Given the description of an element on the screen output the (x, y) to click on. 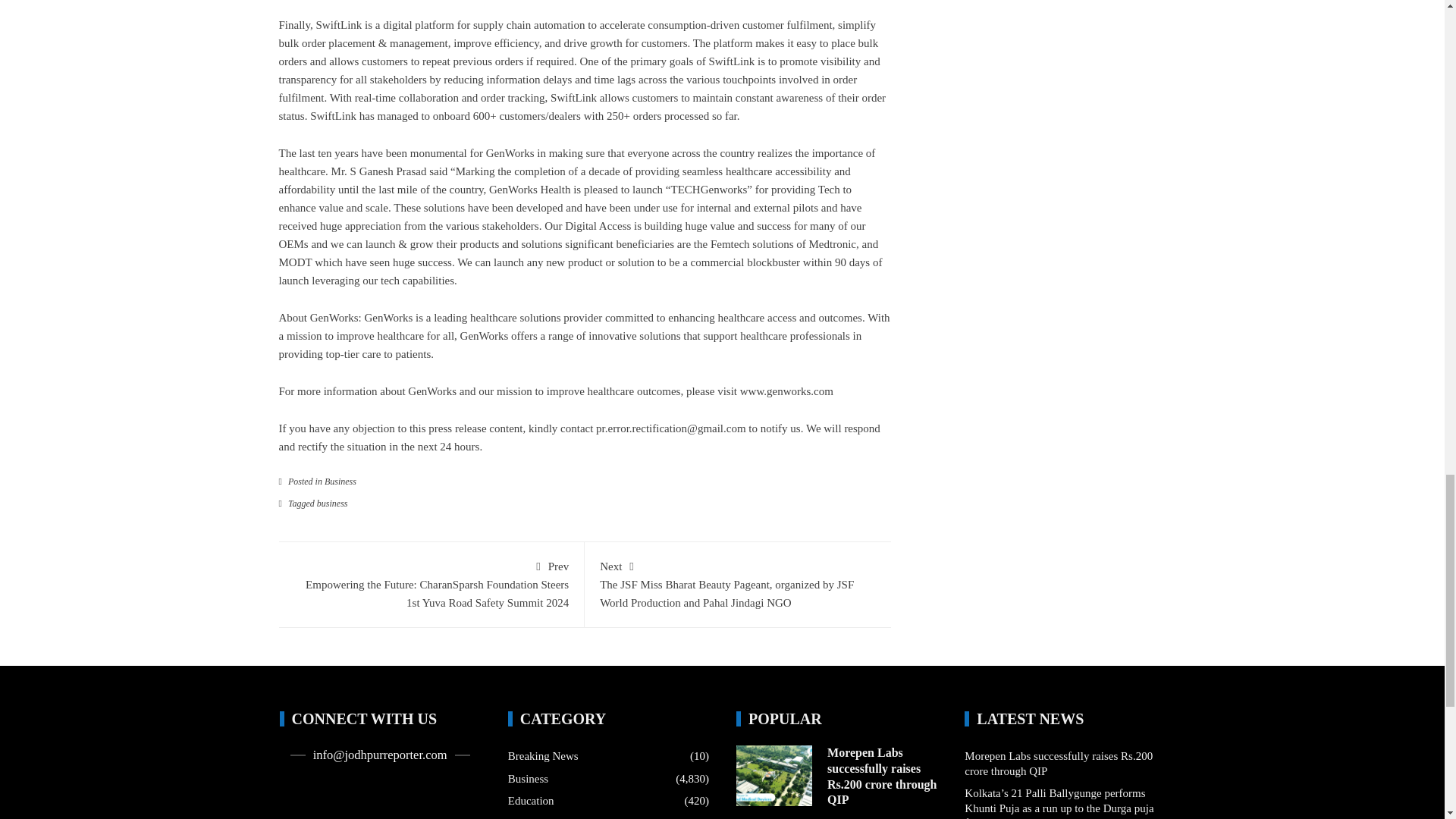
business (332, 502)
Entertainment (540, 817)
Business (340, 480)
Education (531, 801)
Breaking News (543, 756)
www.genworks.com (785, 390)
Business (528, 779)
